Given the description of an element on the screen output the (x, y) to click on. 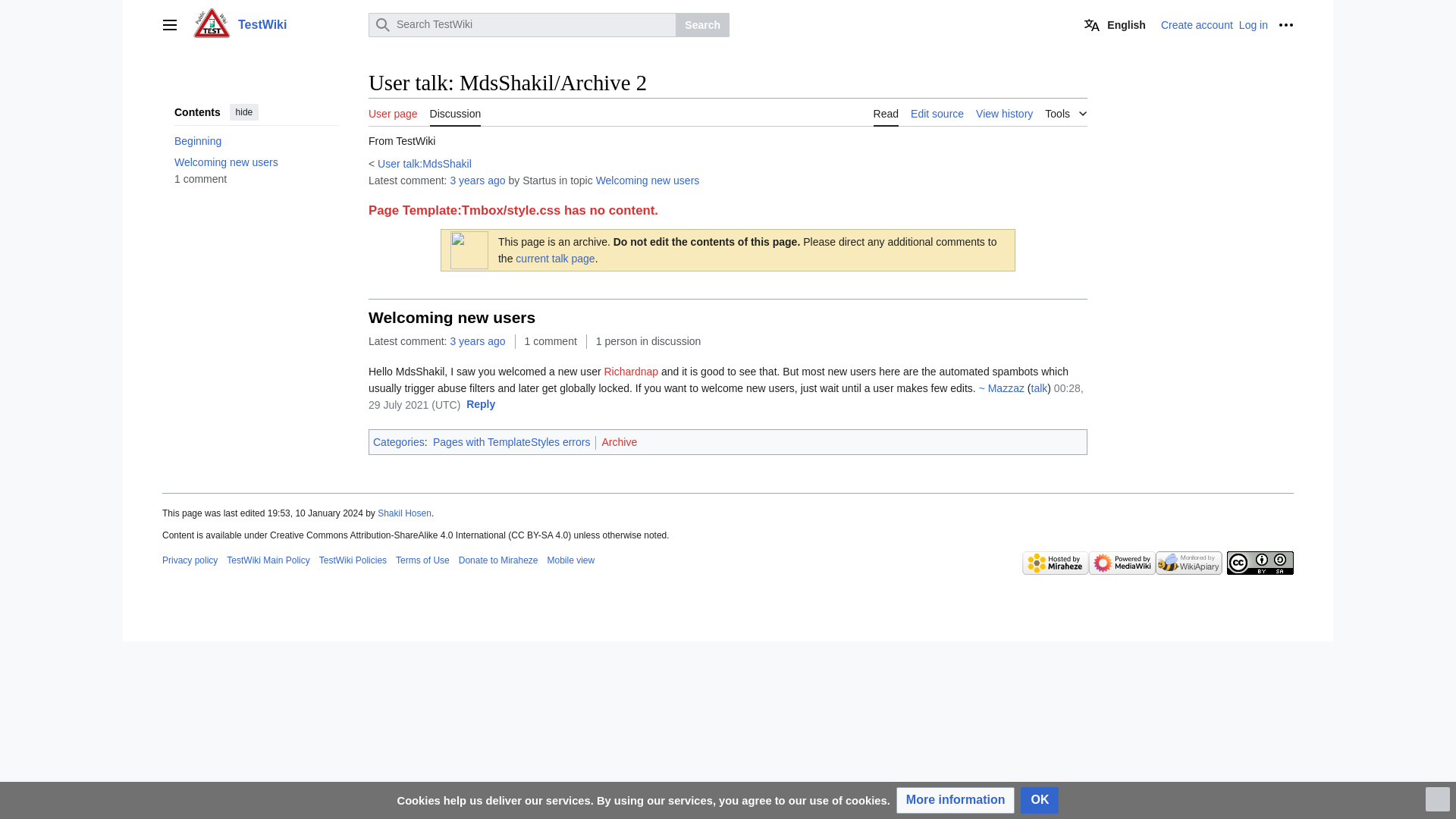
User page (392, 112)
More options (1286, 24)
Welcoming new users (255, 161)
Discussion (455, 112)
Search (702, 24)
Read (885, 112)
Beginning (255, 140)
Edit source (937, 112)
hide (244, 112)
Create account (1196, 24)
